Given the description of an element on the screen output the (x, y) to click on. 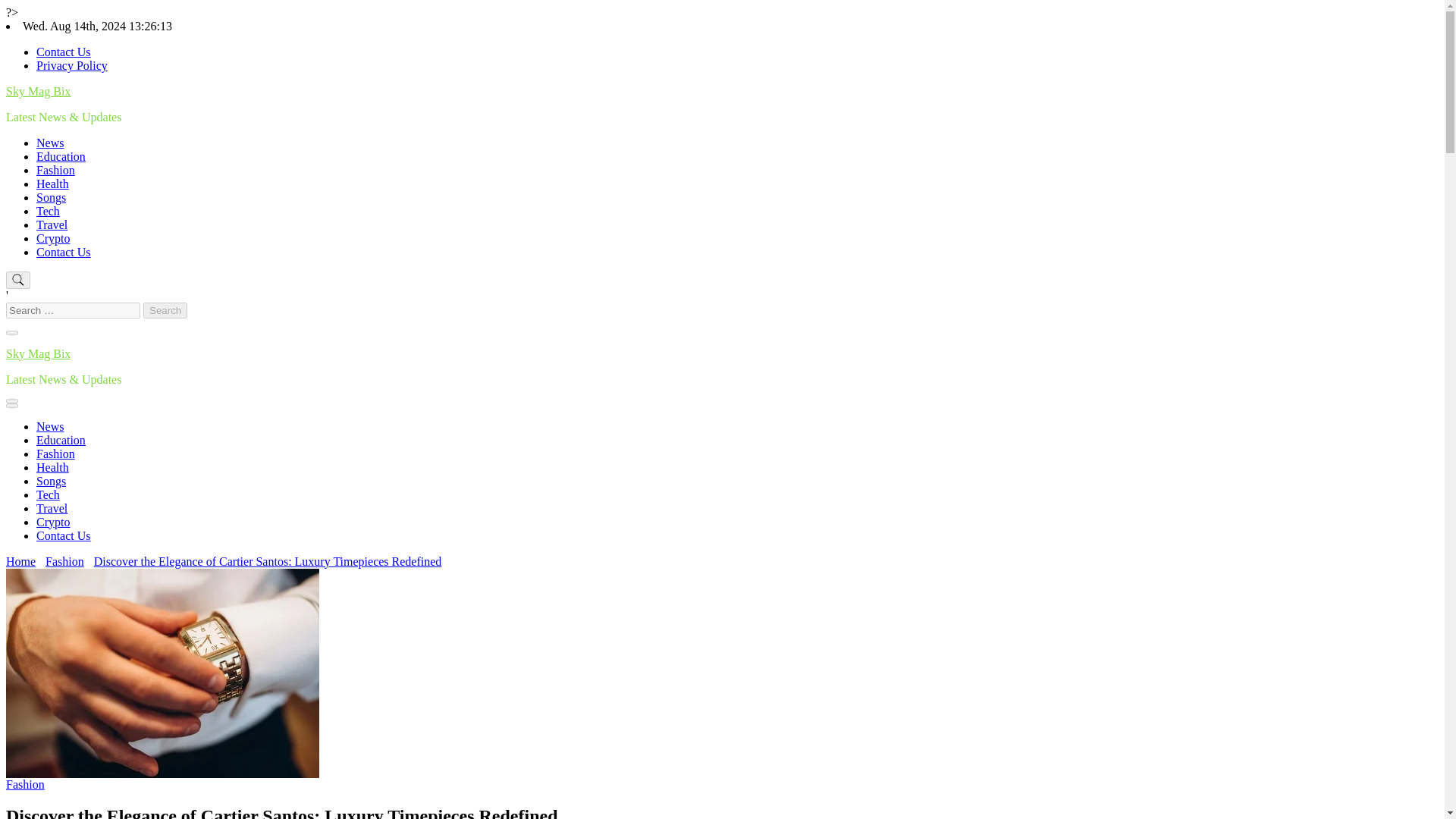
Fashion (55, 169)
Search (164, 310)
Home (19, 561)
Education (60, 155)
News (50, 142)
Health (52, 467)
Sky Mag Bix (37, 91)
Privacy Policy (71, 65)
Health (52, 183)
